Given the description of an element on the screen output the (x, y) to click on. 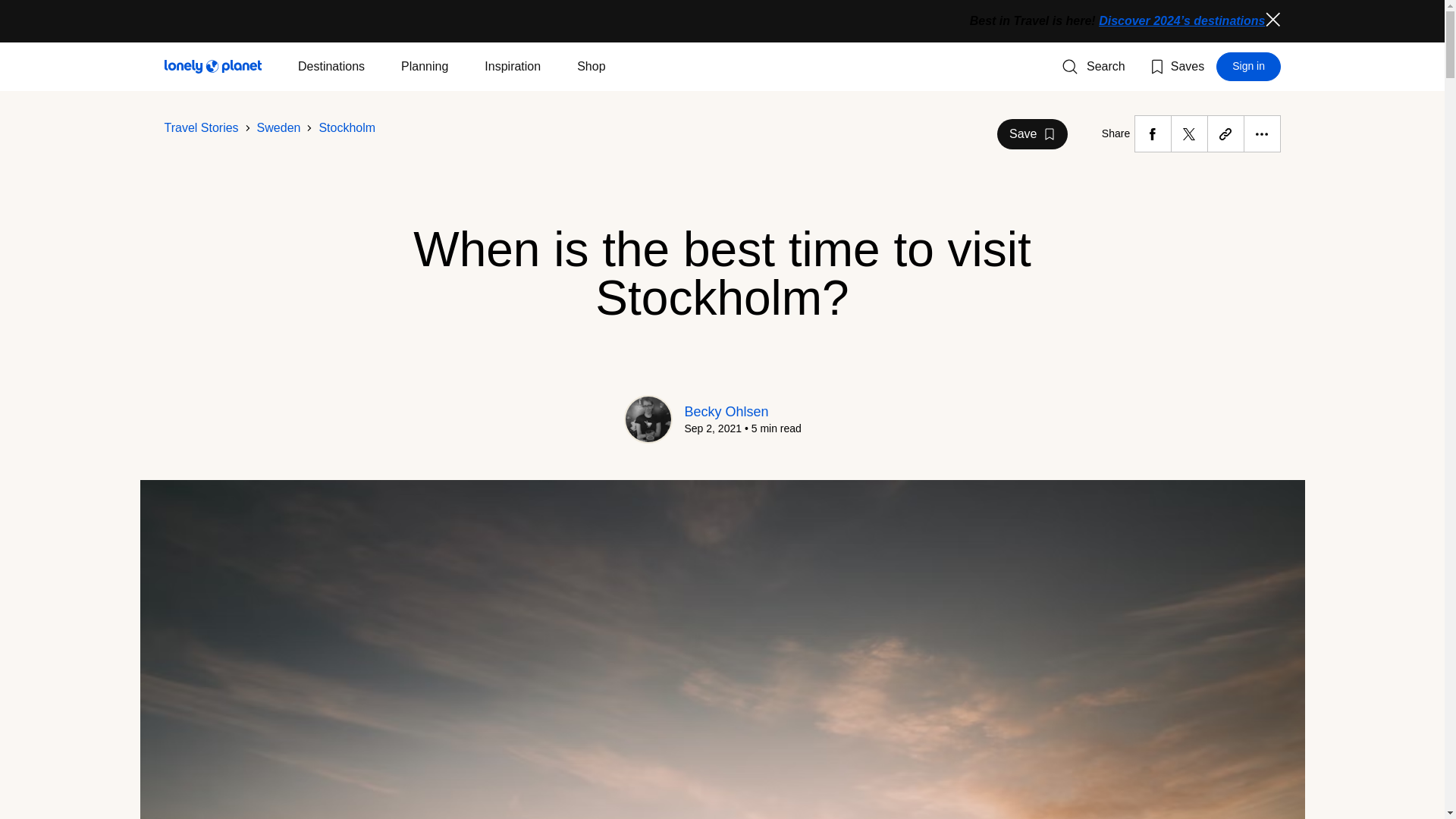
Stockholm (1248, 66)
Search (346, 126)
Destinations (1093, 66)
Saves (330, 66)
Sweden (1176, 66)
Inspiration (279, 126)
Travel Stories (512, 66)
Lonely Planet (200, 126)
Close alert (211, 66)
